Given the description of an element on the screen output the (x, y) to click on. 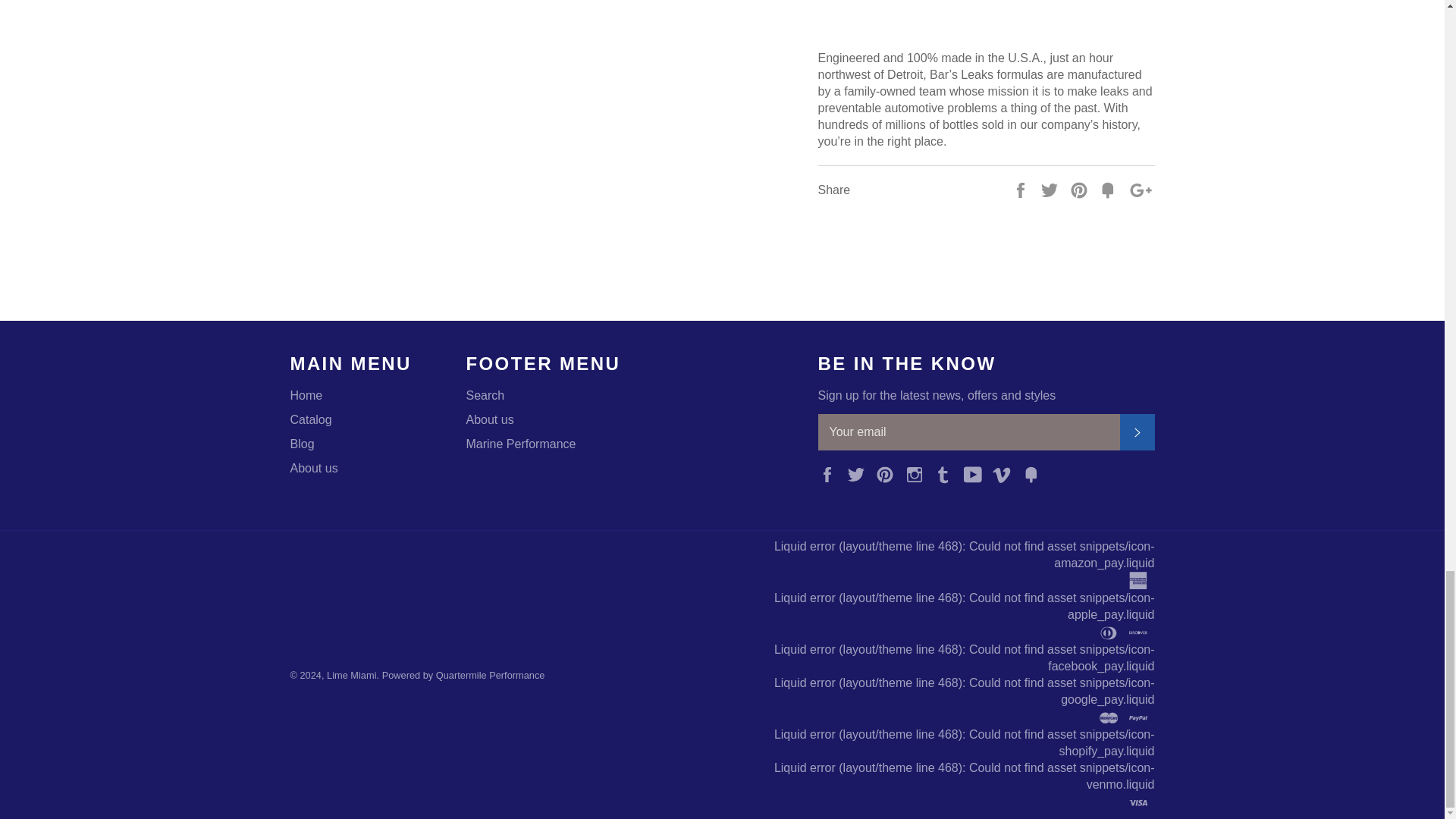
YouTube (976, 472)
SUBSCRIBE (1136, 432)
Share (1021, 188)
Lime Miami on Twitter (859, 472)
Twitter (859, 472)
Fancy (1109, 188)
Instagram (918, 472)
Lime Miami on Facebook (829, 472)
Lime Miami on YouTube (976, 472)
Tweet (1051, 188)
Pinterest (888, 472)
Lime Miami on Tumblr (946, 472)
Lime Miami on Pinterest (888, 472)
Lime Miami on Instagram (918, 472)
Lime Miami on Fancy (1035, 472)
